Given the description of an element on the screen output the (x, y) to click on. 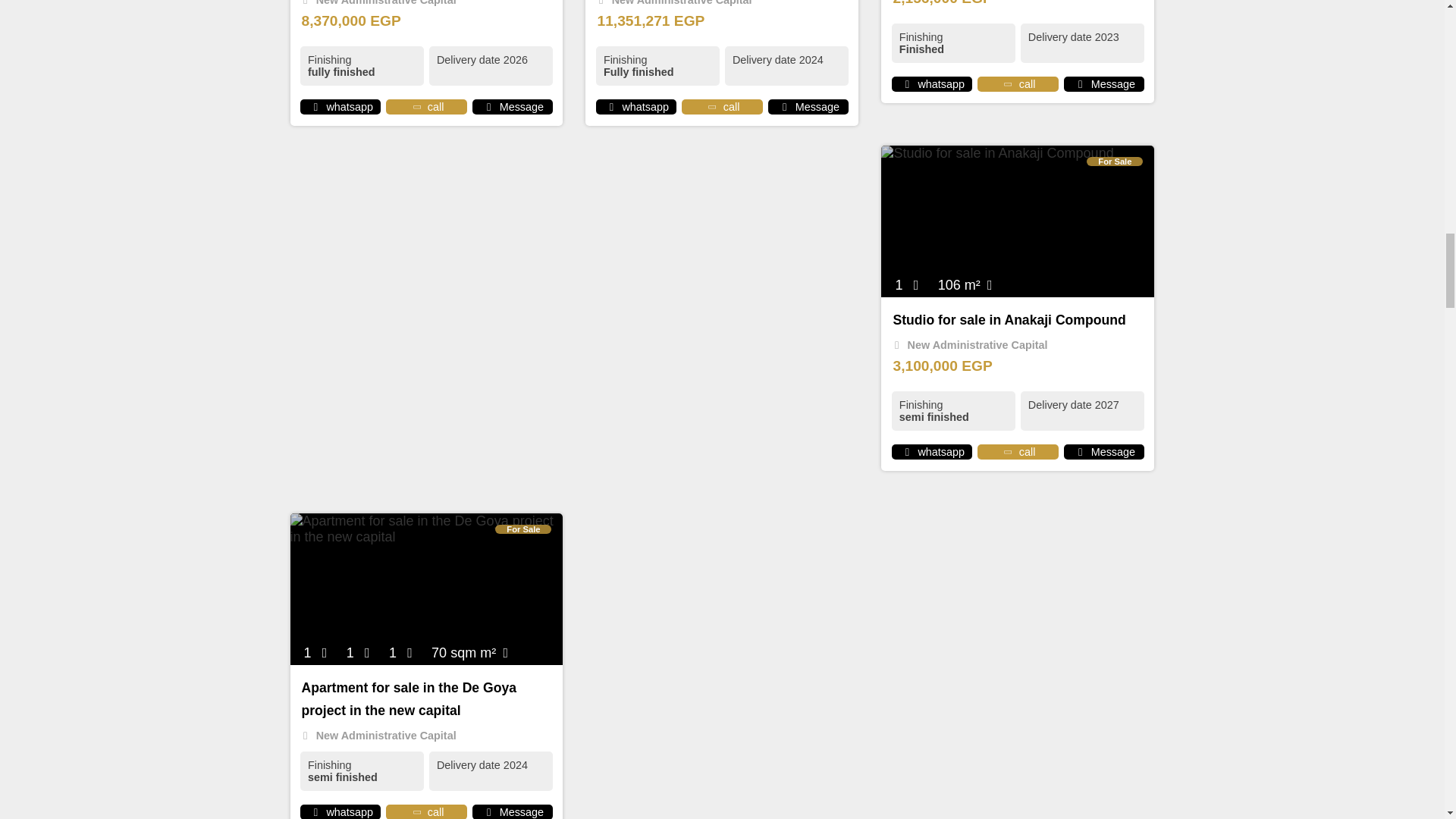
whatsapp (611, 106)
whatsapp (315, 106)
whatsapp (315, 811)
whatsapp (906, 83)
whatsapp (906, 451)
